Given the description of an element on the screen output the (x, y) to click on. 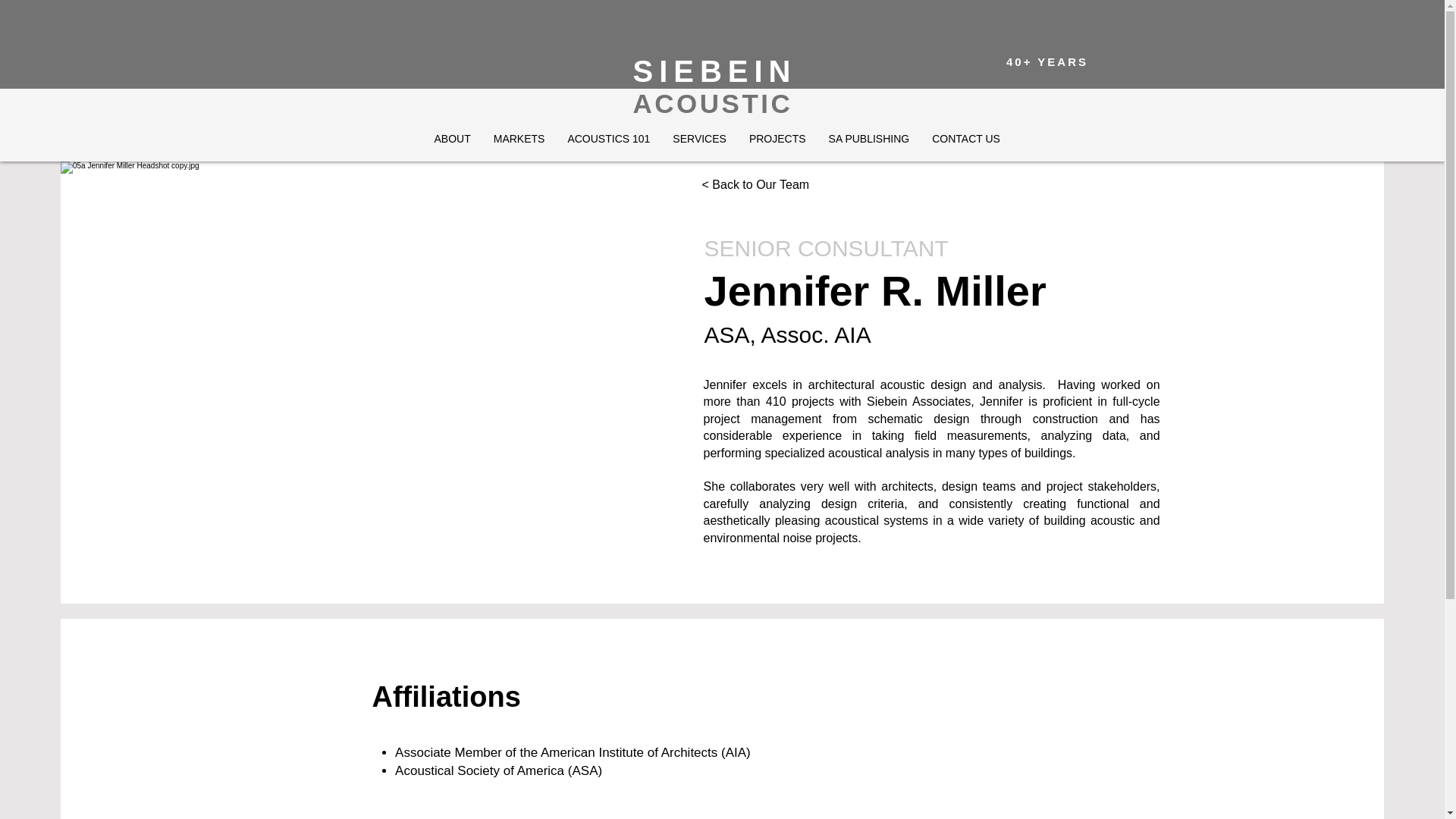
CONTACT US (965, 142)
SA PUBLISHING (868, 142)
PROJECTS (777, 142)
ACOUSTICS 101 (608, 142)
ABOUT (452, 142)
MARKETS (518, 142)
SIEBEIN (713, 70)
SERVICES (699, 142)
